Given the description of an element on the screen output the (x, y) to click on. 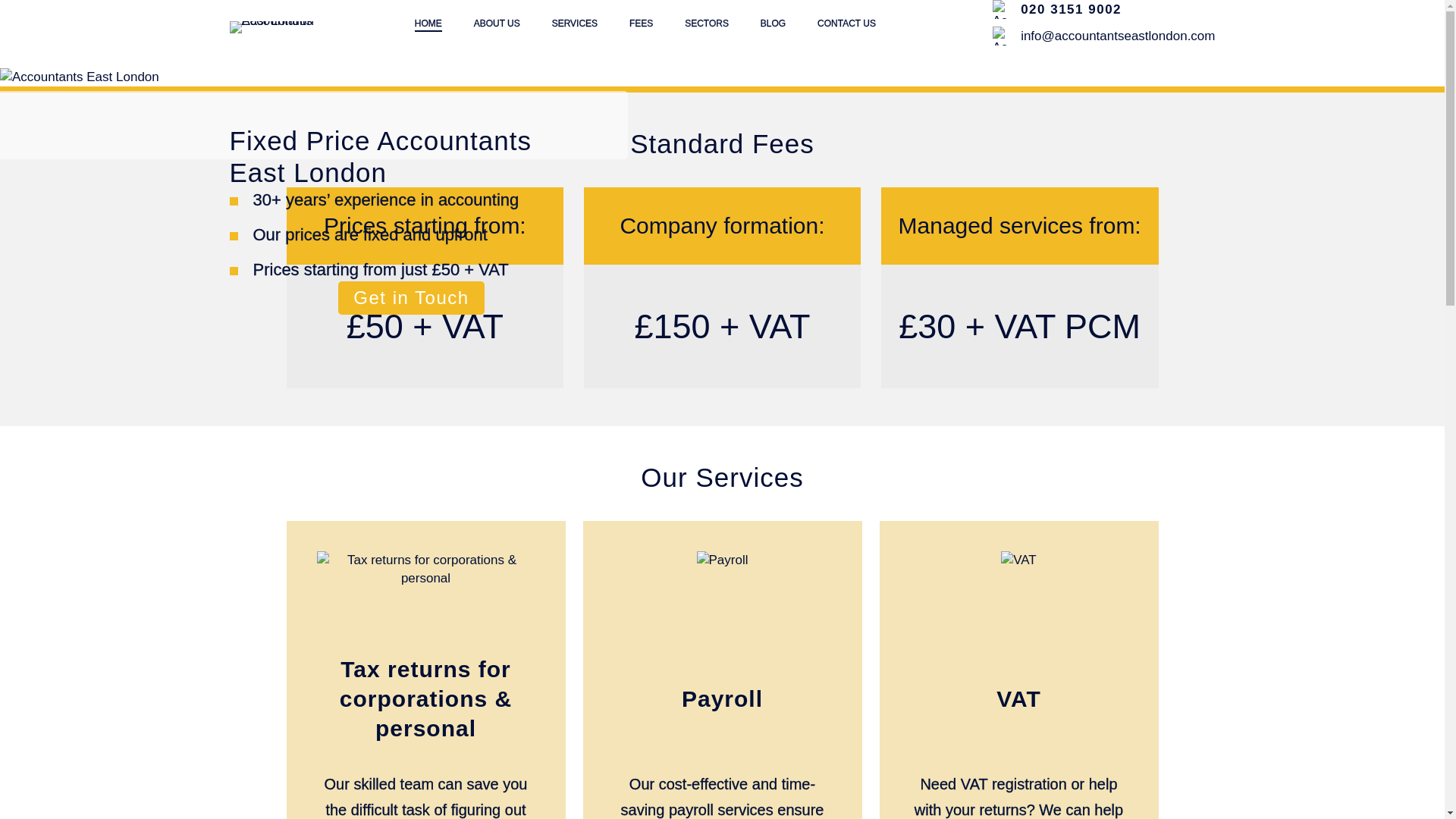
FEES (640, 24)
BLOG (773, 24)
SERVICES (573, 24)
020 3151 9002 (1070, 9)
Get in Touch (410, 297)
SECTORS (706, 24)
ABOUT US (496, 24)
CONTACT US (846, 24)
HOME (428, 24)
